Given the description of an element on the screen output the (x, y) to click on. 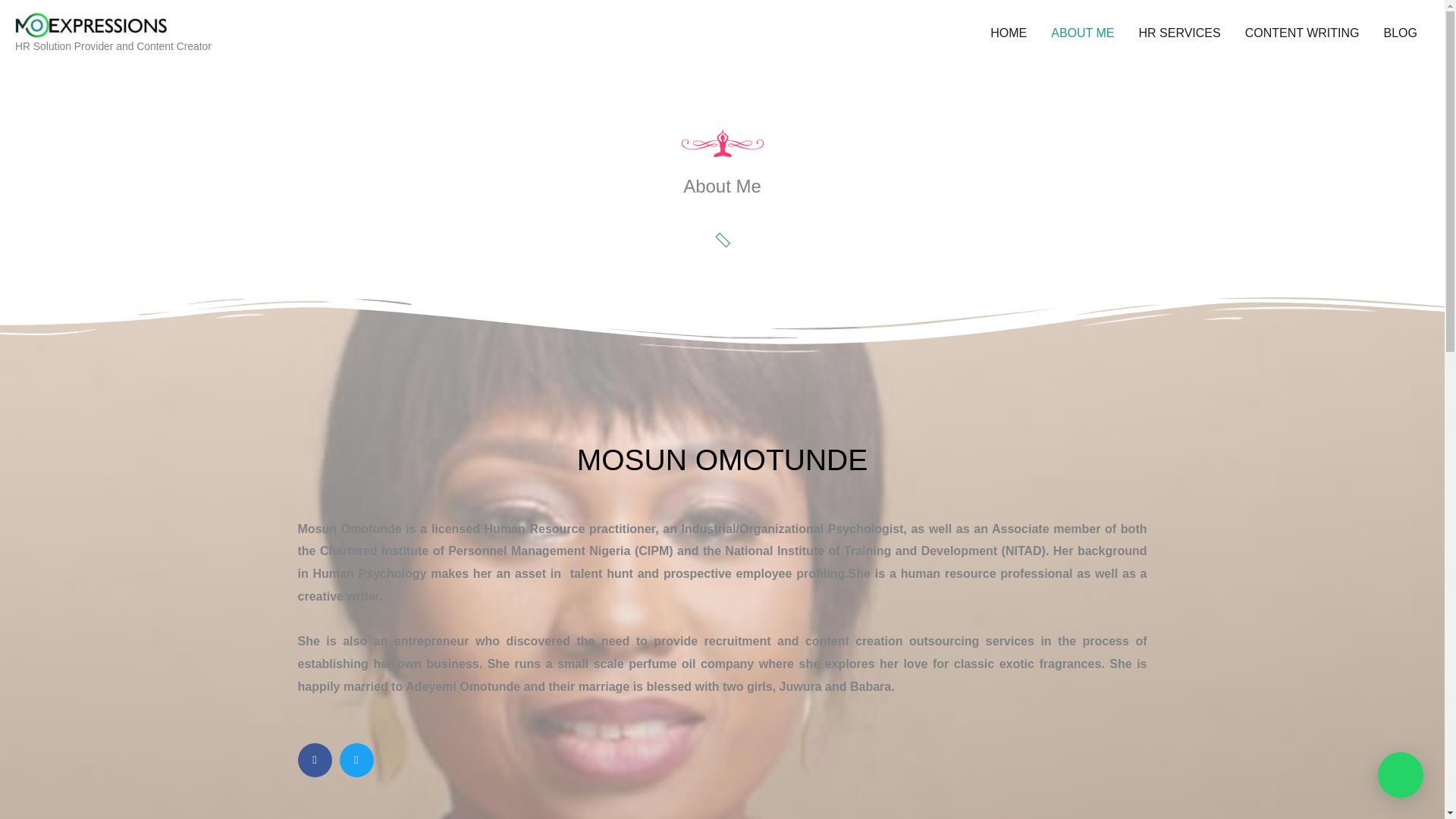
BLOG (1400, 33)
HR SERVICES (1179, 33)
CONTENT WRITING (1302, 33)
ABOUT ME (1082, 33)
HOME (1008, 33)
